Given the description of an element on the screen output the (x, y) to click on. 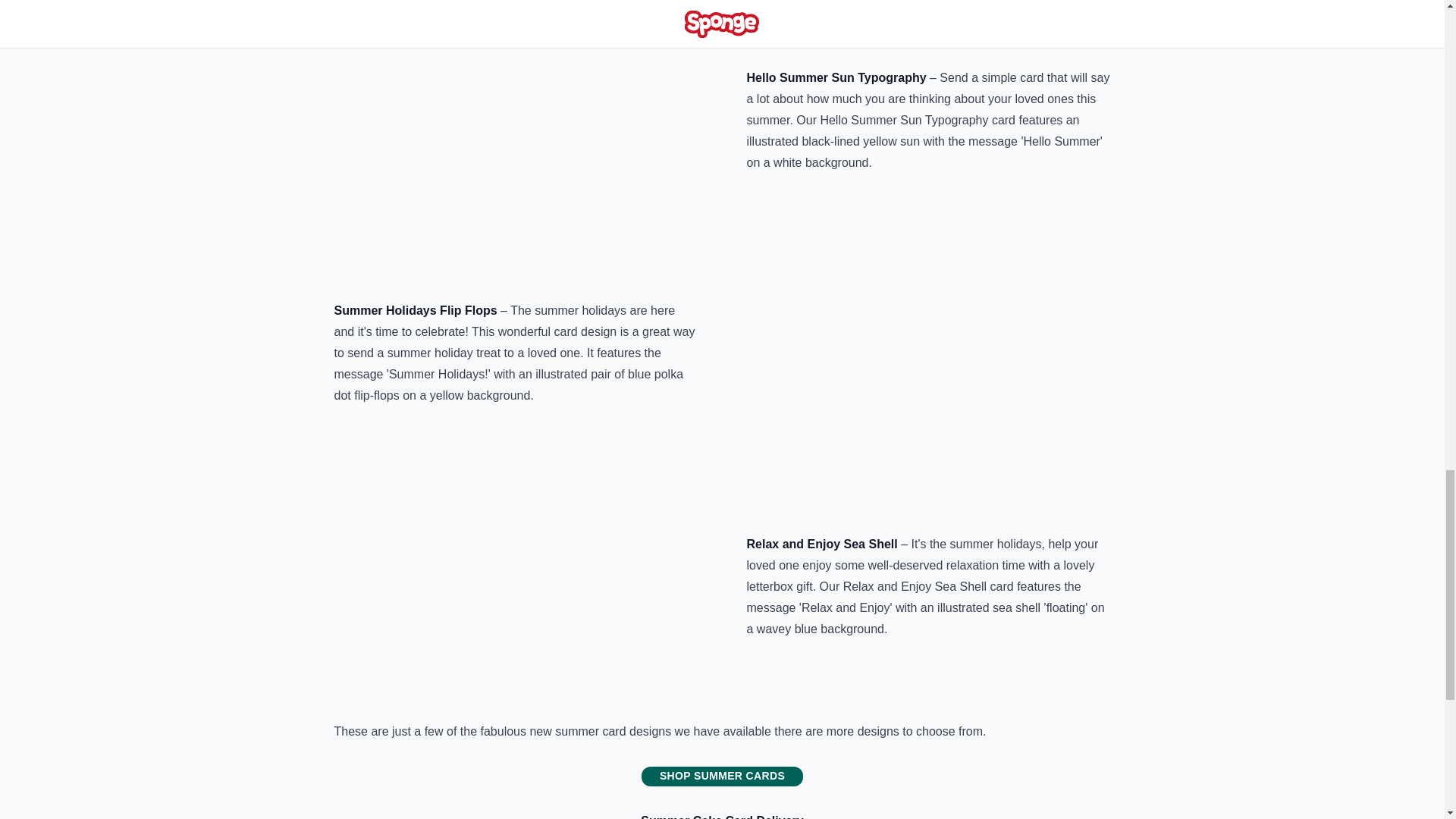
SHOP SUMMER CARDS (722, 775)
SHOP SUMMER CARDS (722, 776)
